Given the description of an element on the screen output the (x, y) to click on. 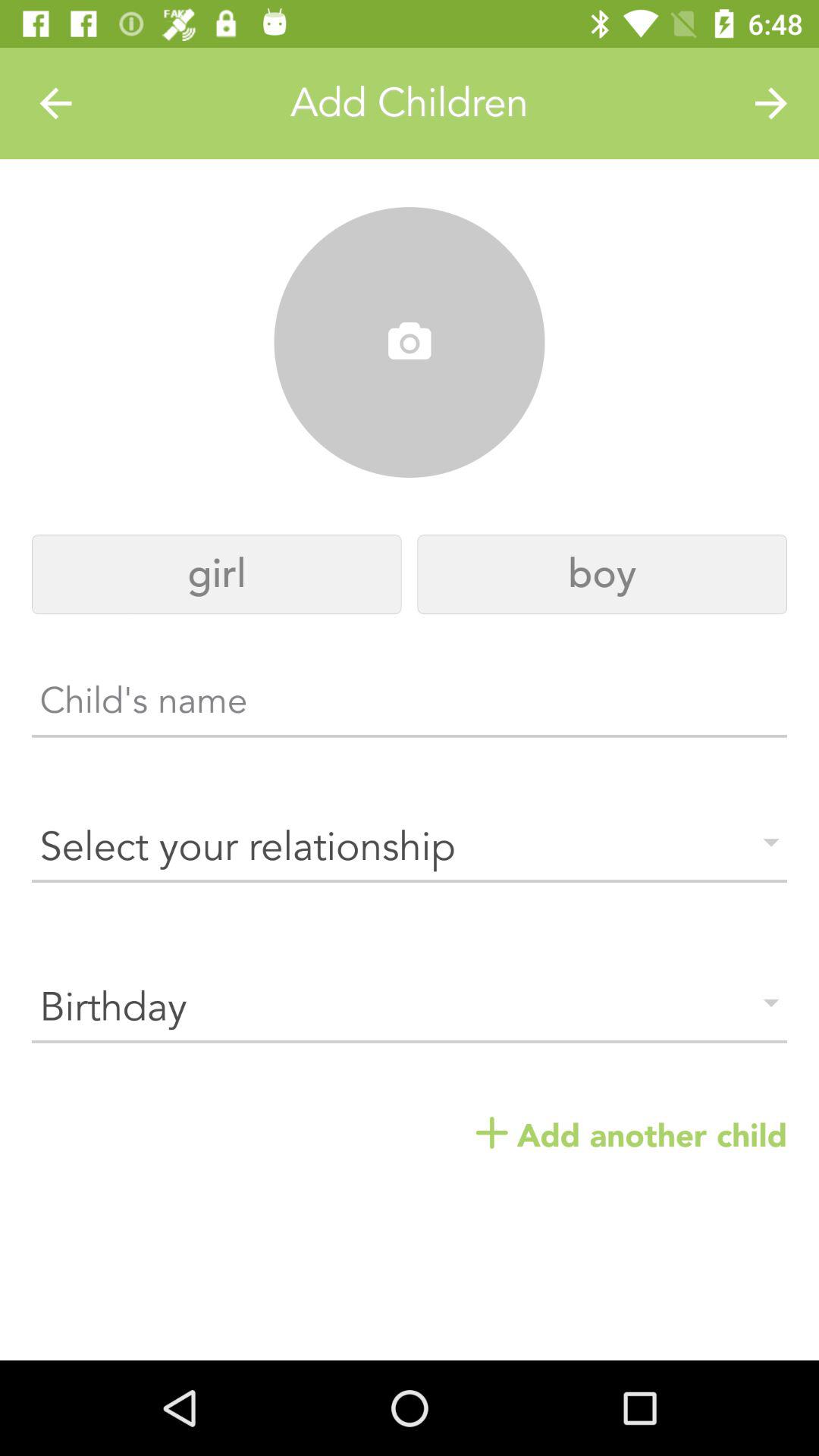
choose girl (216, 574)
